Given the description of an element on the screen output the (x, y) to click on. 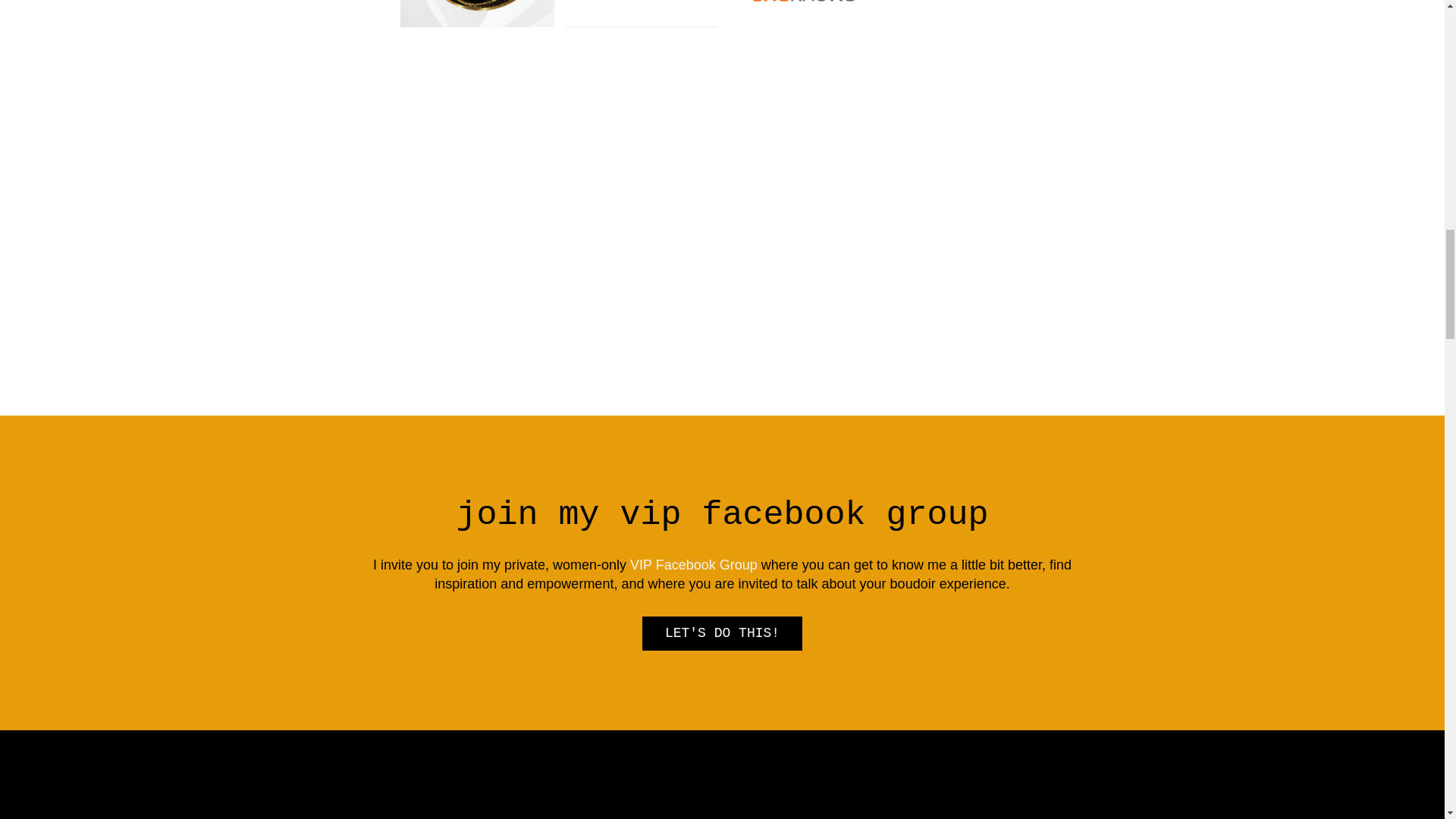
LET'S DO THIS! (722, 633)
YouTube video player (539, 805)
VIP Facebook Group (693, 564)
